Given the description of an element on the screen output the (x, y) to click on. 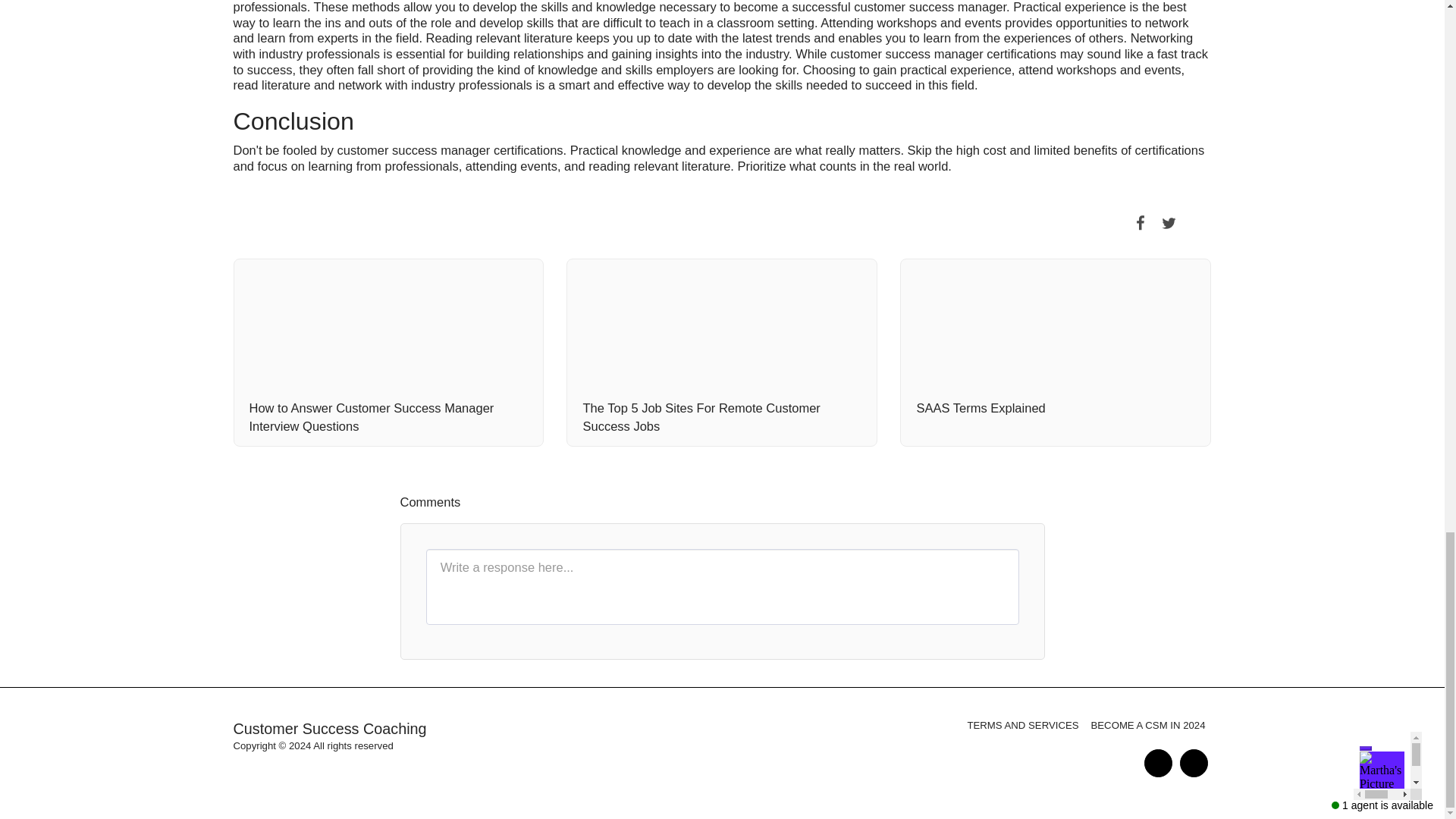
Share on Facebook (1139, 222)
The Top 5 Job Sites For Remote Customer Success Jobs (721, 416)
Tweet (1168, 222)
How to Answer Customer Success Manager Interview Questions (387, 416)
SAAS Terms Explained (1055, 408)
BECOME A CSM IN 2024 (1147, 725)
Pin it (1196, 222)
